Given the description of an element on the screen output the (x, y) to click on. 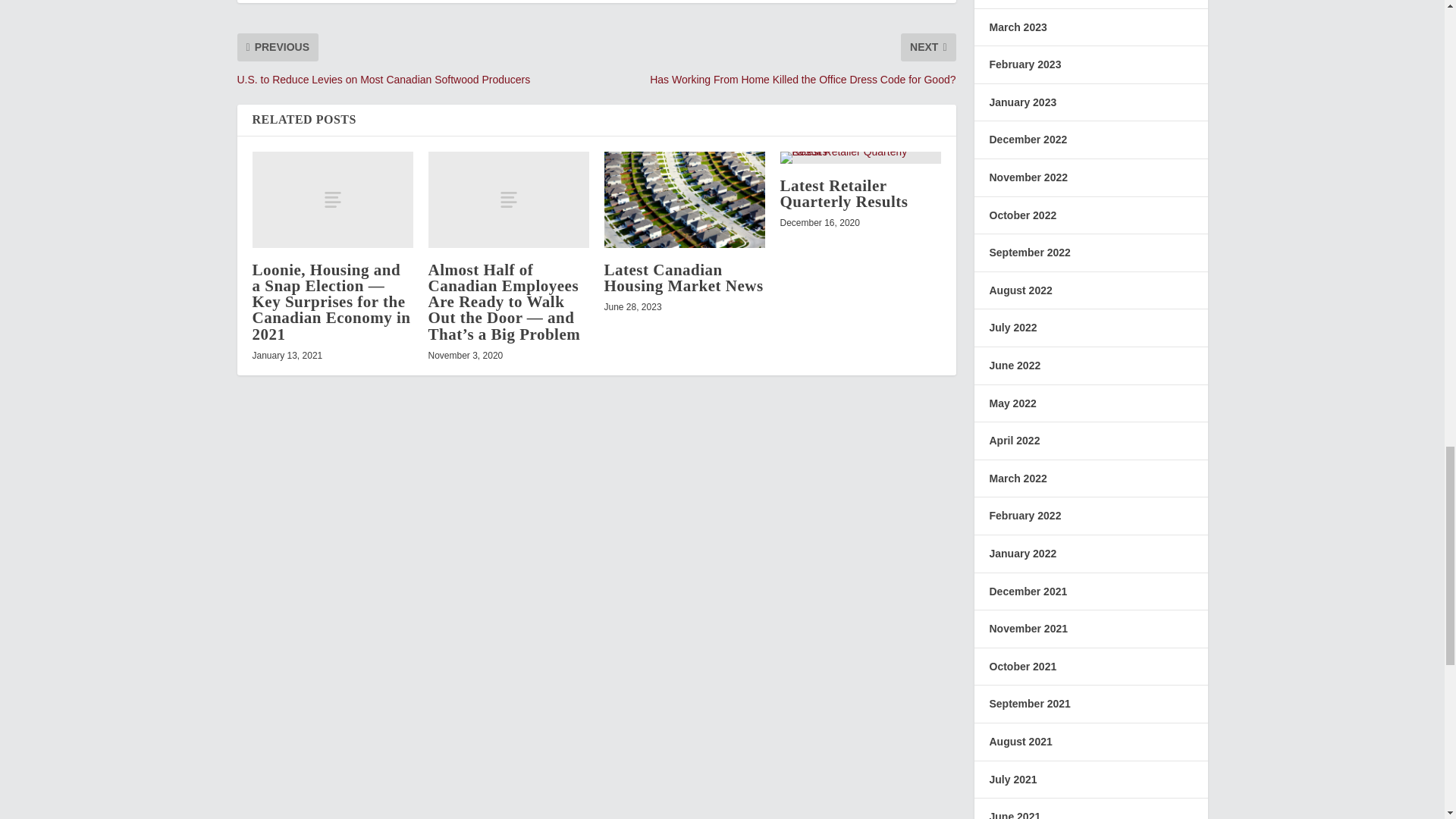
Latest Canadian Housing Market News (684, 199)
Latest Canadian Housing Market News (683, 277)
Latest Retailer Quarterly Results (859, 157)
Latest Retailer Quarterly Results (842, 193)
